Given the description of an element on the screen output the (x, y) to click on. 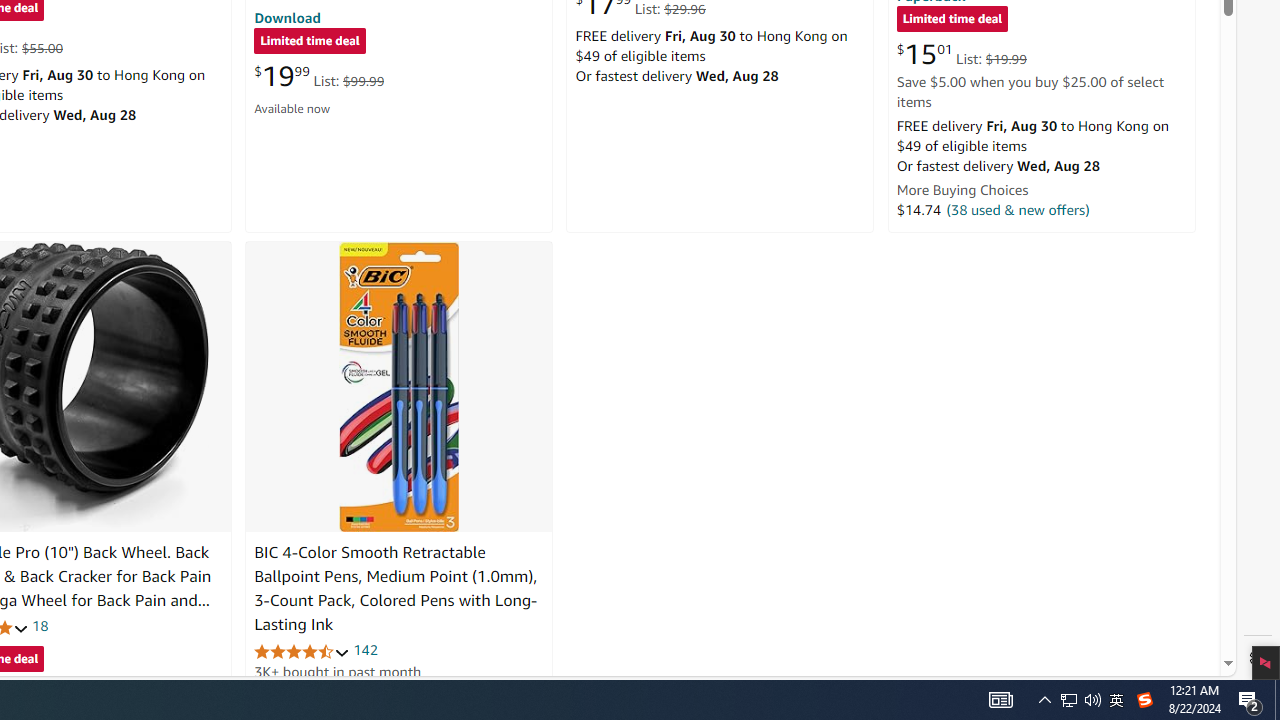
Limited time deal (952, 20)
18 (40, 625)
4.6 out of 5 stars (301, 650)
(38 used & new offers) (1017, 209)
$19.99 List: $99.99 (319, 76)
142 (365, 650)
Download (287, 17)
$15.01 List: $19.99 (961, 54)
